Given the description of an element on the screen output the (x, y) to click on. 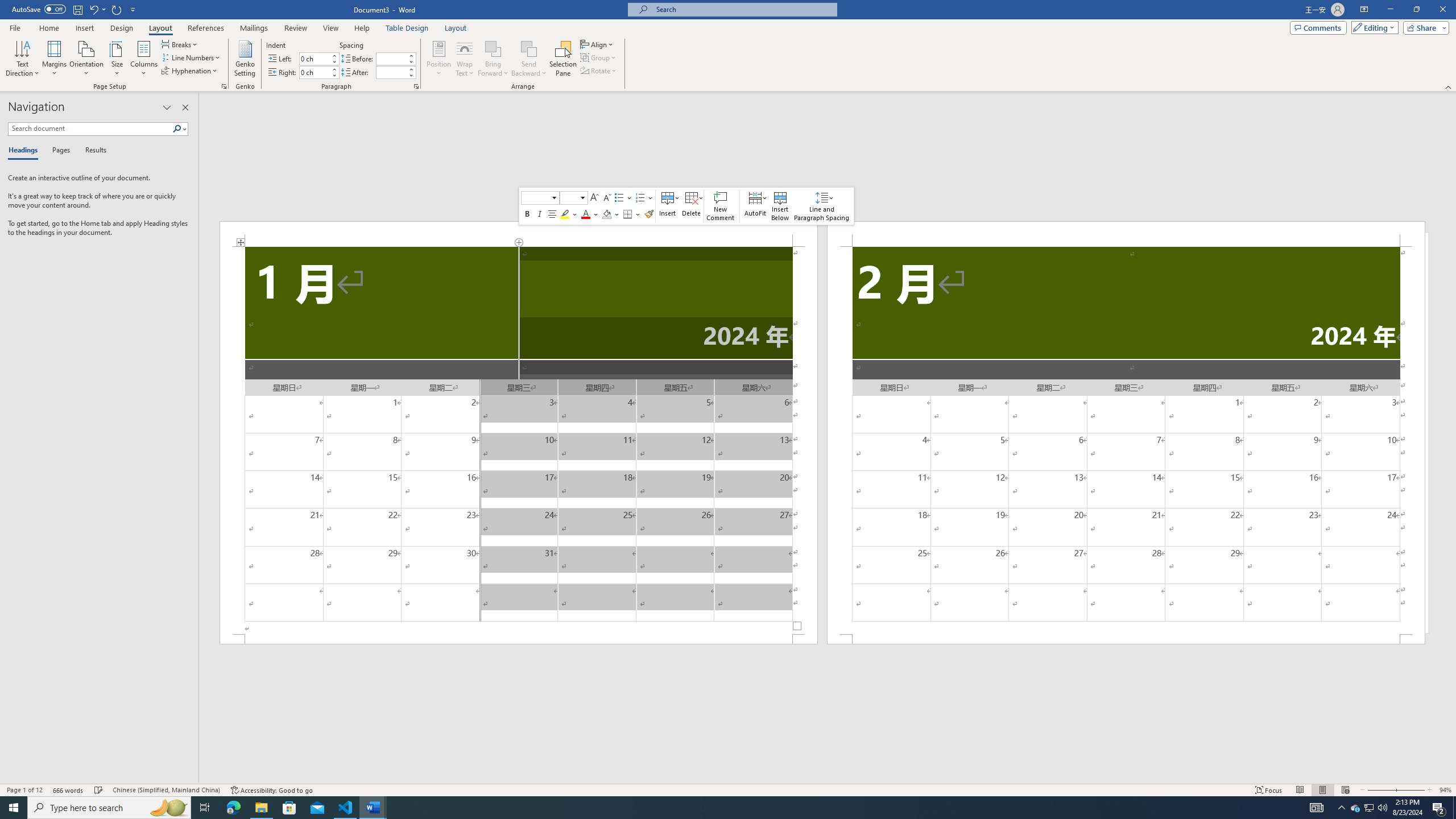
Page 2 content (1126, 439)
Indent Right (314, 72)
